Given the description of an element on the screen output the (x, y) to click on. 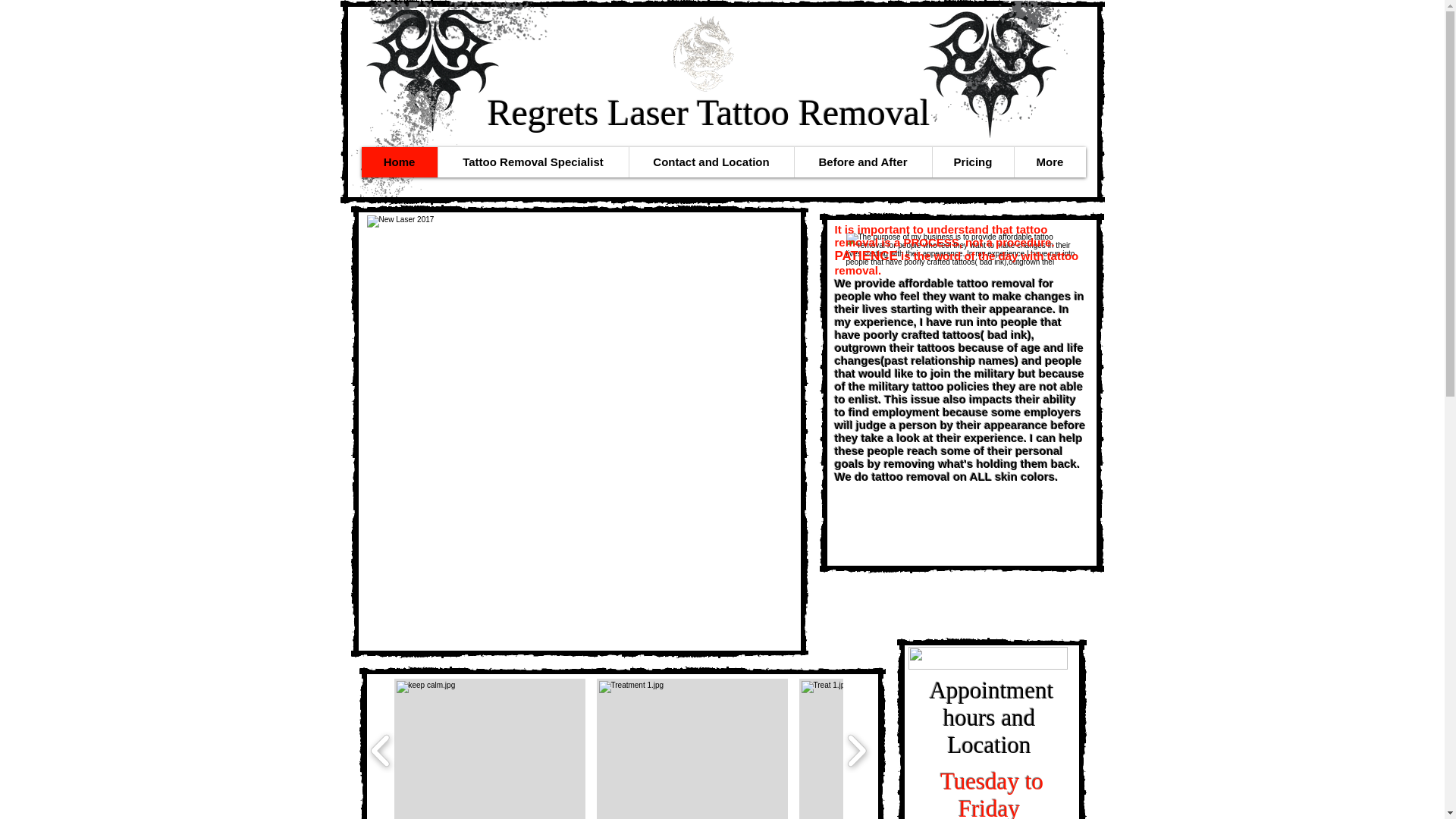
Tattoo Removal Specialist (531, 162)
Pricing (972, 162)
Home (398, 162)
Before and After (862, 162)
Contact and Location (710, 162)
